Given the description of an element on the screen output the (x, y) to click on. 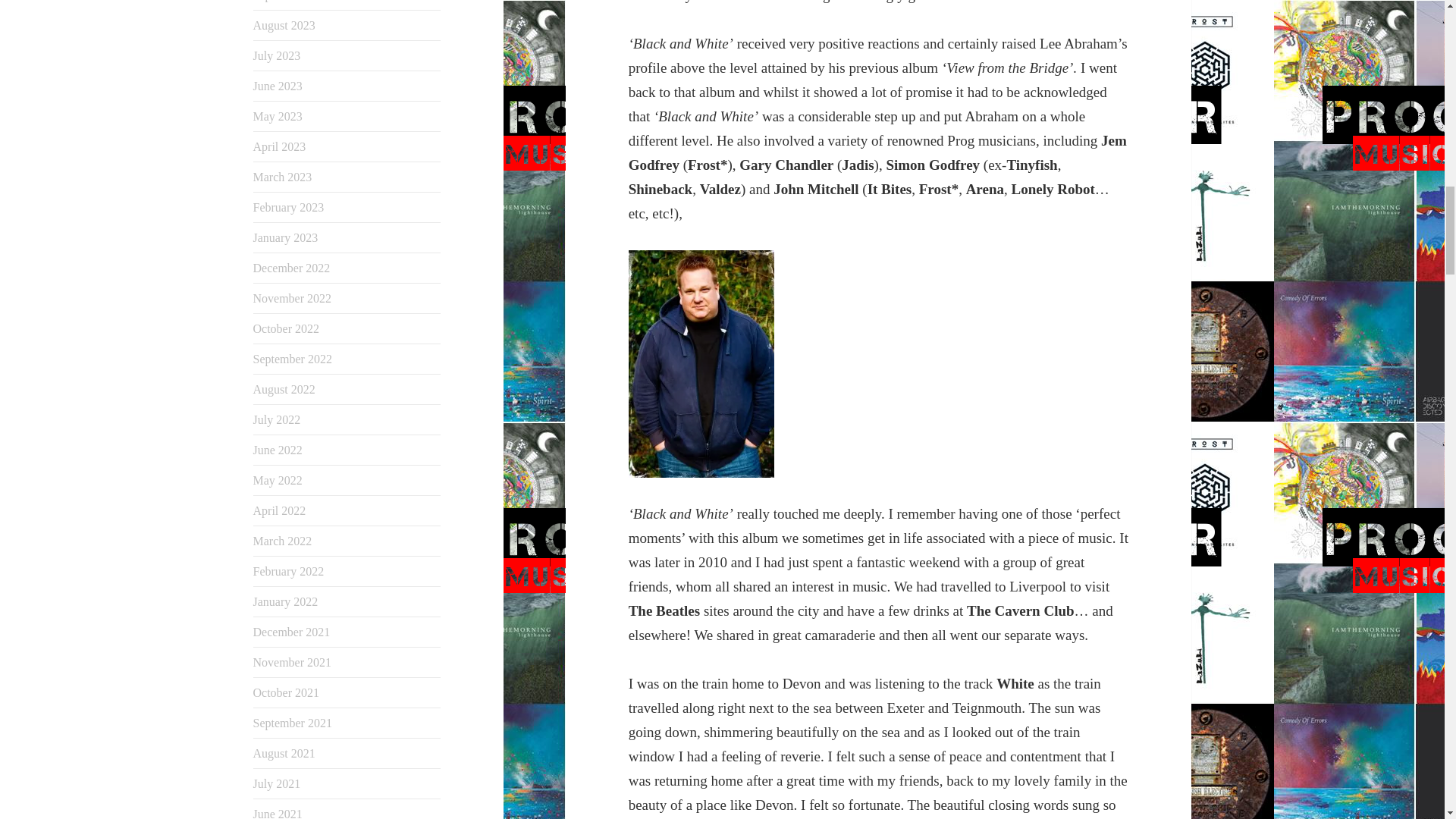
September 2023 (292, 0)
December 2022 (291, 267)
July 2023 (277, 55)
March 2023 (283, 176)
February 2023 (288, 206)
November 2022 (292, 297)
August 2023 (284, 24)
April 2023 (279, 146)
June 2023 (277, 85)
January 2023 (285, 237)
May 2023 (277, 115)
October 2022 (286, 328)
